Given the description of an element on the screen output the (x, y) to click on. 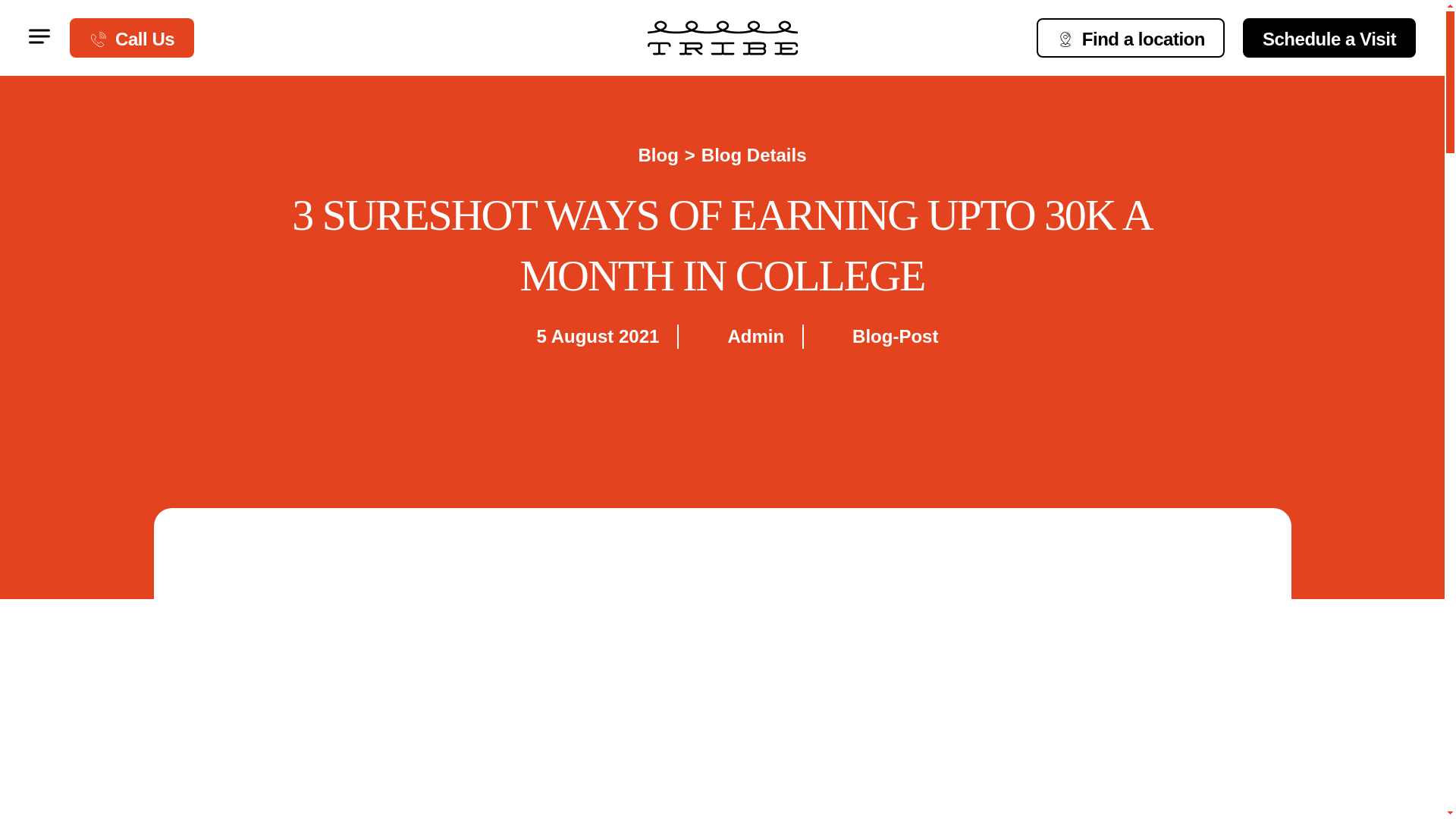
Schedule a Visit (1329, 37)
Call Us (131, 37)
Find a location (1130, 37)
